Given the description of an element on the screen output the (x, y) to click on. 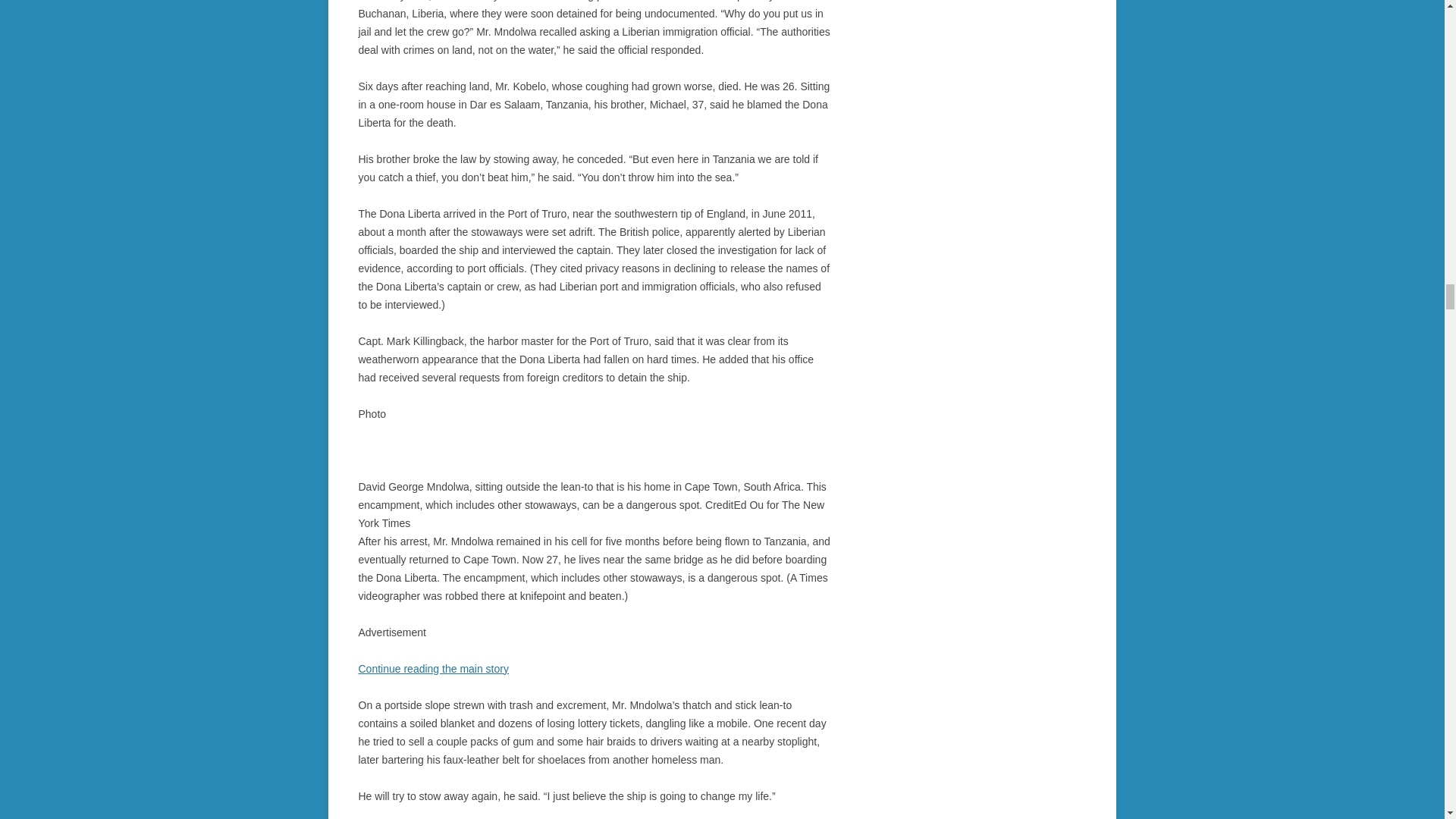
Continue reading the main story (433, 668)
